Given the description of an element on the screen output the (x, y) to click on. 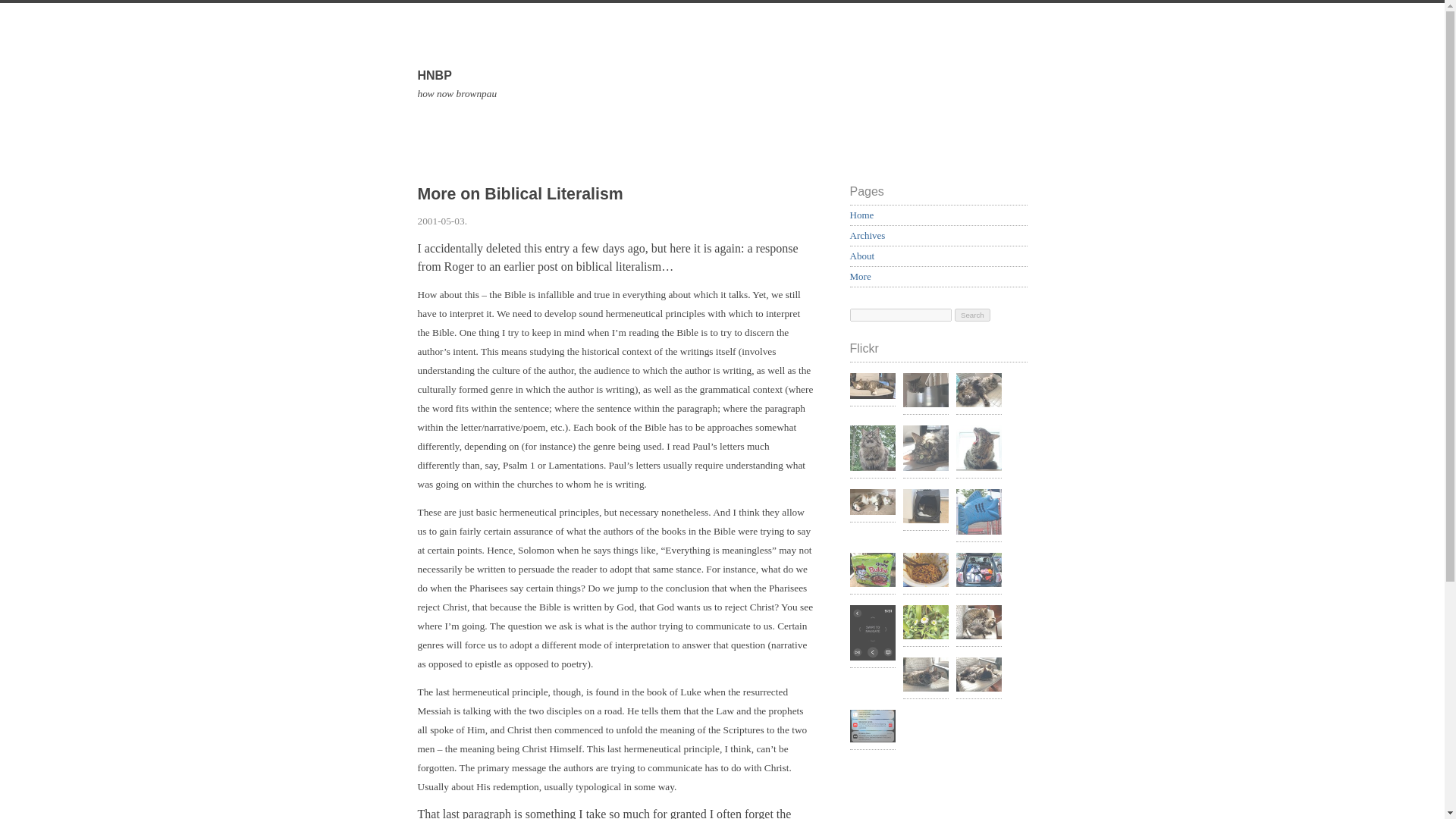
Archives (866, 235)
Home (860, 214)
About (861, 255)
Jjajang Buldak (871, 571)
Fleabane flowers (924, 623)
Search (972, 314)
Jjajang Buldak (924, 571)
Fish Bridge at Cole Harbour Place playground (721, 103)
More (978, 513)
